Given the description of an element on the screen output the (x, y) to click on. 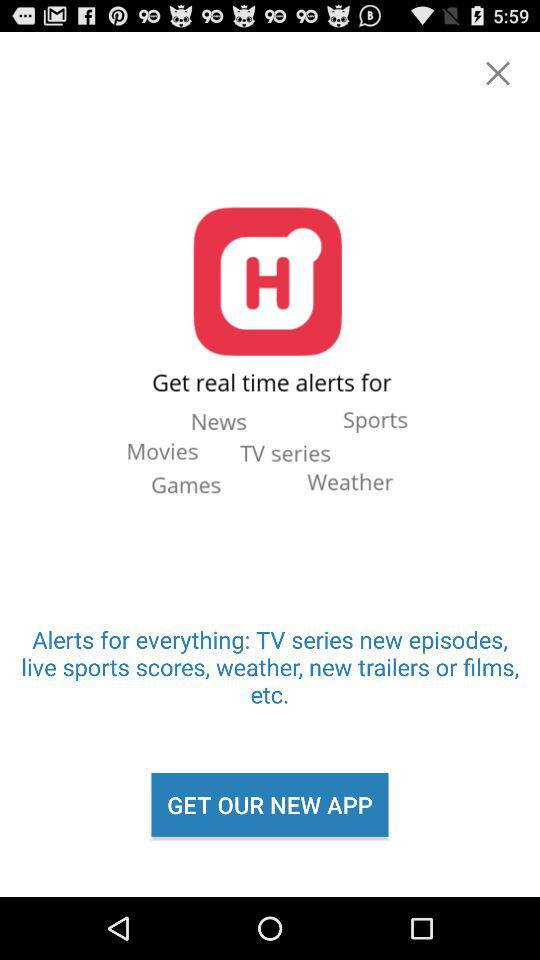
open the icon below alerts for everything icon (269, 804)
